Given the description of an element on the screen output the (x, y) to click on. 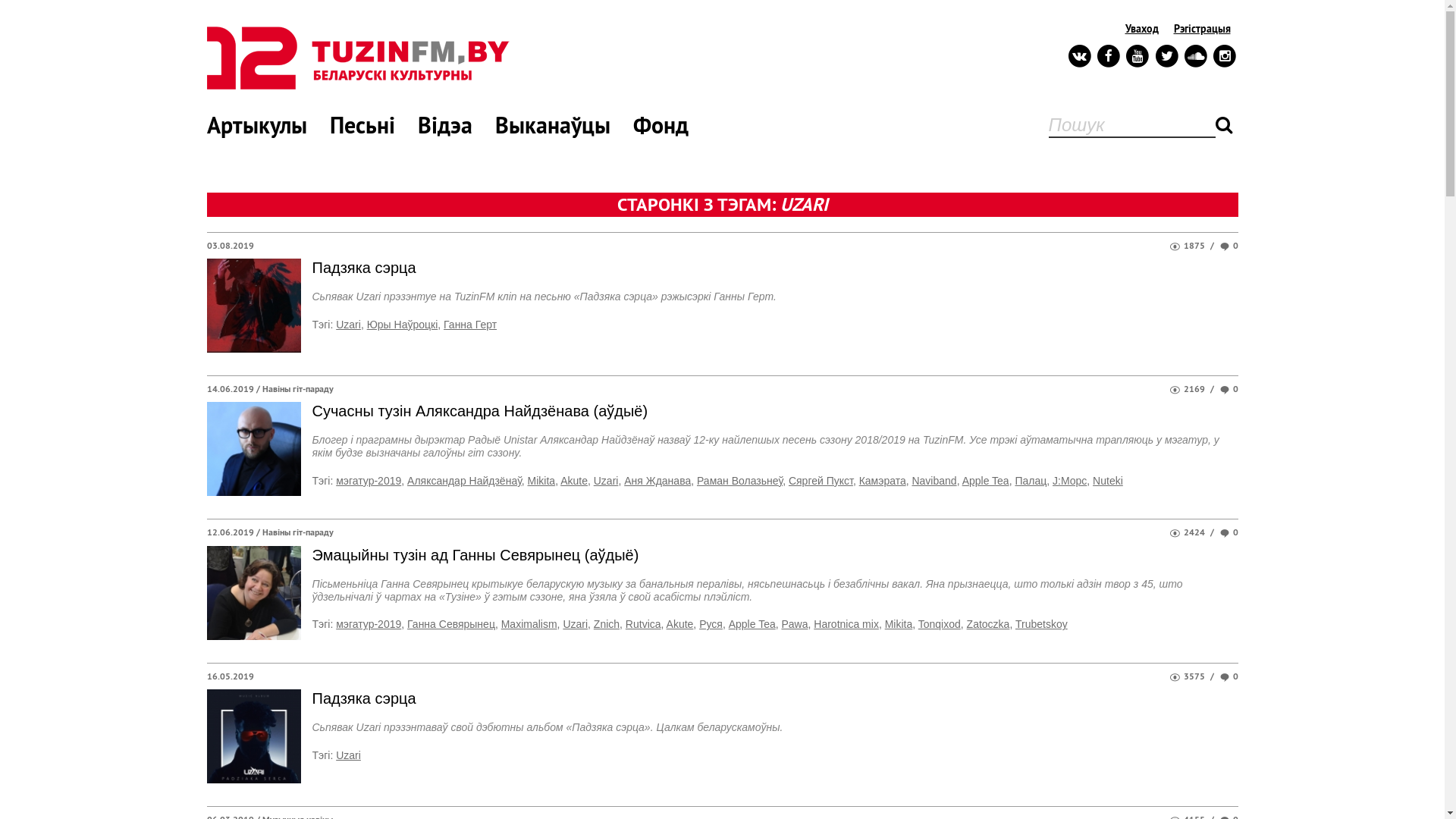
Akute Element type: text (679, 624)
Uzari Element type: text (605, 480)
Naviband Element type: text (933, 480)
Mikita Element type: text (541, 480)
Uzari Element type: text (574, 624)
Uzari Element type: text (347, 324)
Harotnica mix Element type: text (845, 624)
Apple Tea Element type: text (985, 480)
Pawa Element type: text (794, 624)
Apple Tea Element type: text (751, 624)
Tonqixod Element type: text (939, 624)
Trubetskoy Element type: text (1041, 624)
Znich Element type: text (606, 624)
Nuteki Element type: text (1107, 480)
Mikita Element type: text (898, 624)
Rutvica Element type: text (643, 624)
Zatoczka Element type: text (988, 624)
Akute Element type: text (573, 480)
Uzari Element type: text (347, 755)
Maximalism Element type: text (529, 624)
